Given the description of an element on the screen output the (x, y) to click on. 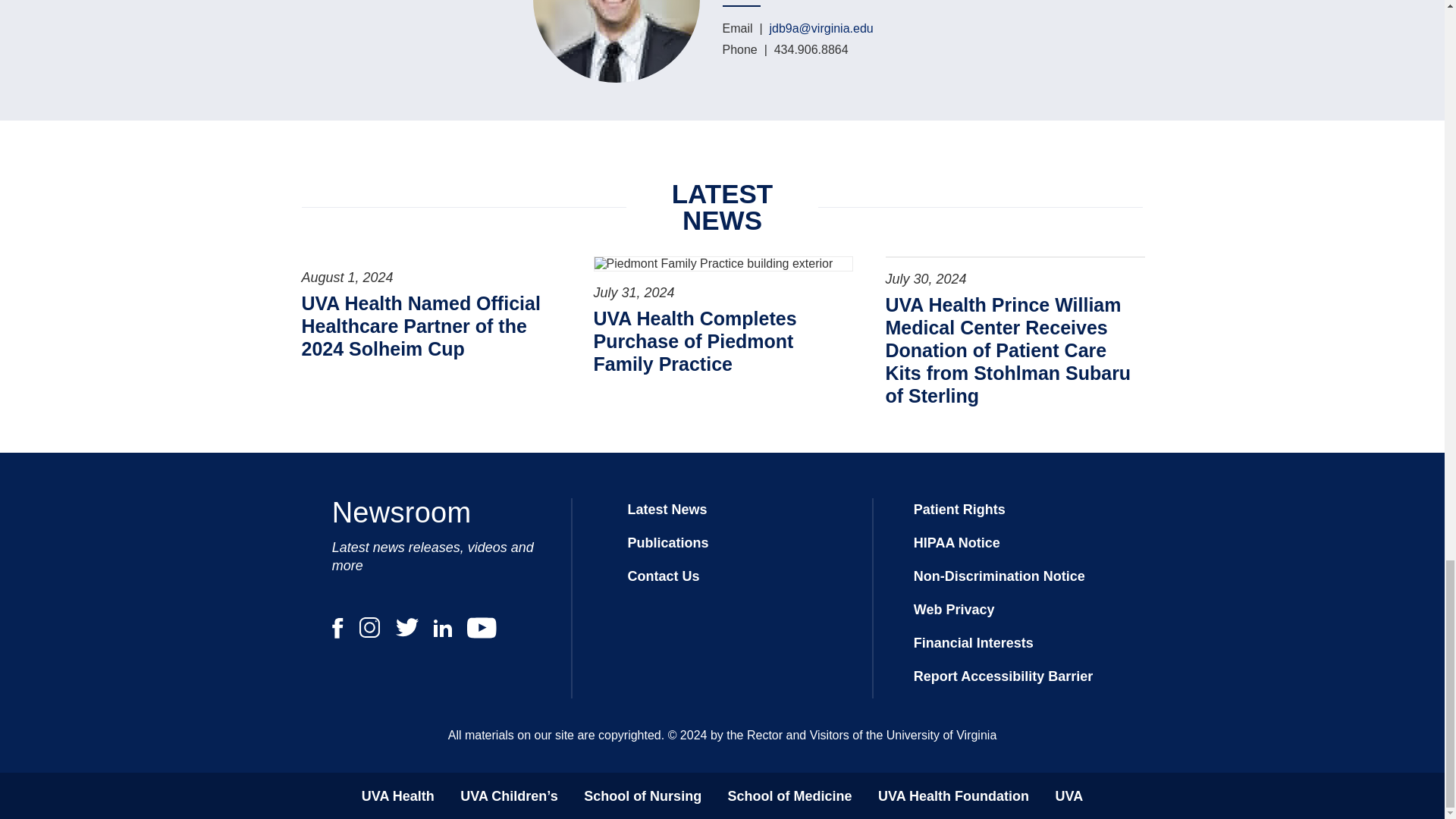
Latest News (666, 509)
School of Nursing (642, 795)
Financial Interests (973, 642)
UVA Health Completes Purchase of Piedmont Family Practice  (721, 341)
UVA Health Foundation (953, 795)
UVA Health (397, 795)
Contact Us (662, 575)
Report Accessibility Barrier (1003, 676)
Web Privacy (954, 609)
UVA (1068, 795)
School of Medicine (789, 795)
HIPAA Notice (957, 542)
Patient Rights (960, 509)
Non-Discrimination Notice (999, 575)
